Given the description of an element on the screen output the (x, y) to click on. 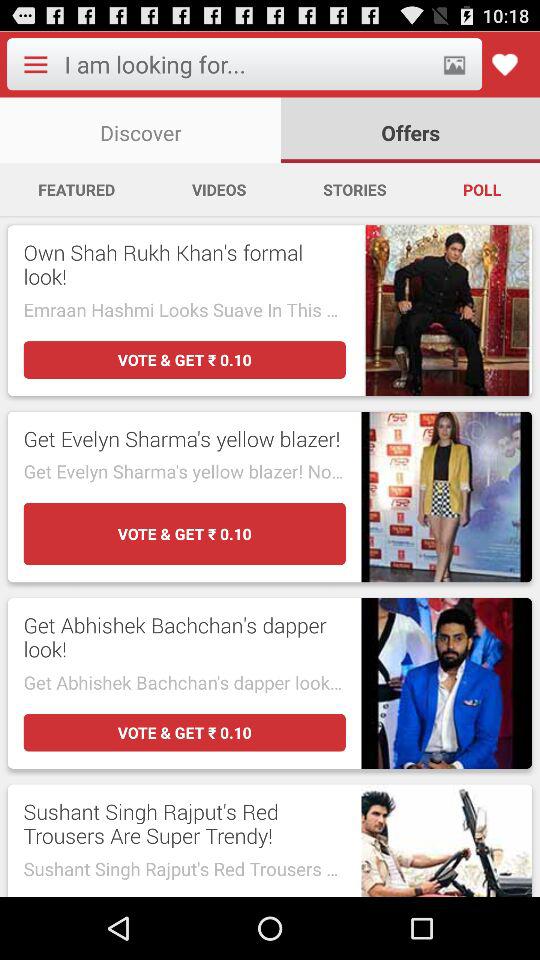
type for search (246, 64)
